Given the description of an element on the screen output the (x, y) to click on. 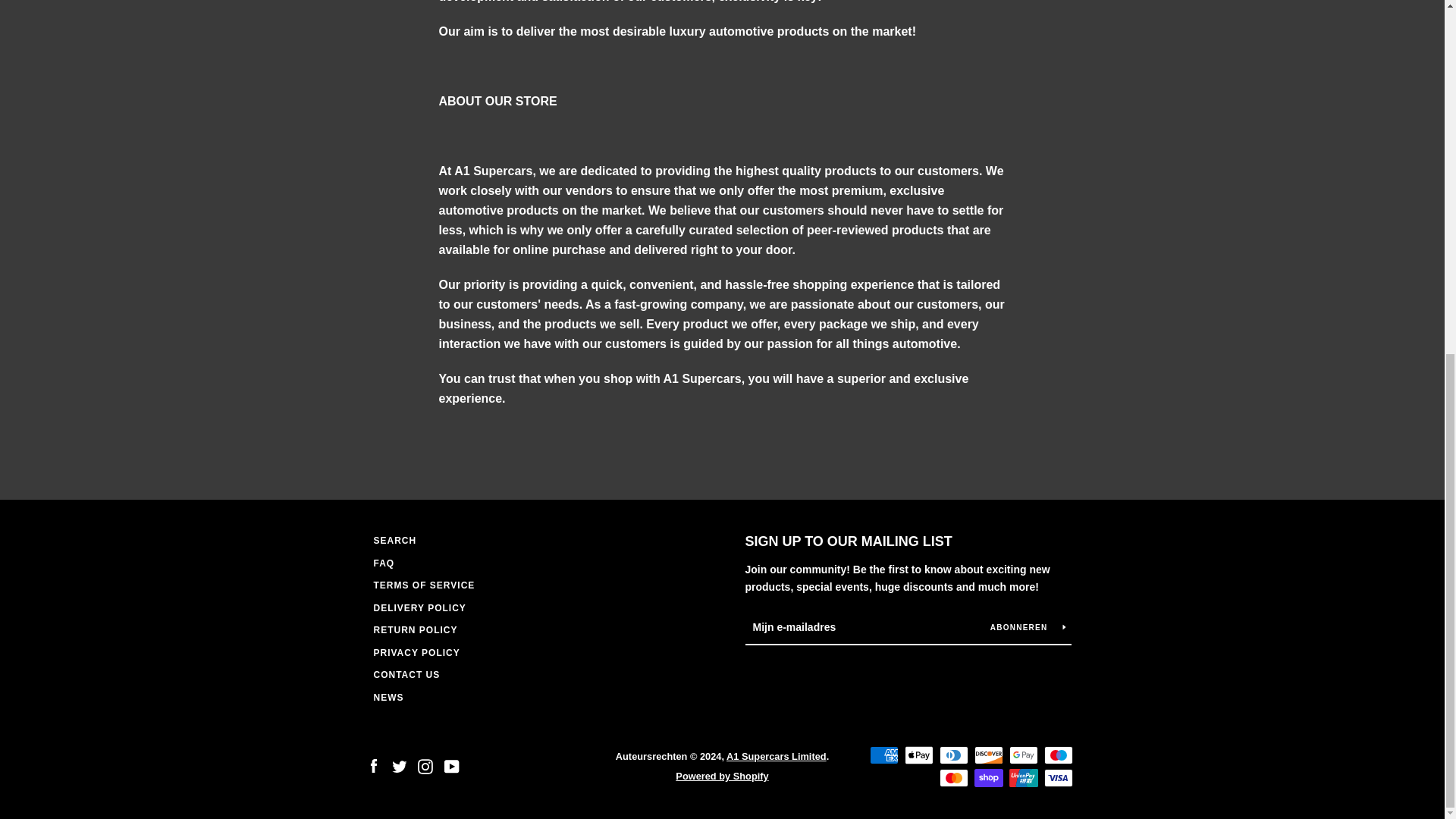
Shop Pay (988, 158)
A1 Supercars Limited op Instagram (424, 145)
Mastercard (953, 158)
A1 Supercars Limited op Twitter (399, 145)
Maestro (1057, 135)
Discover (988, 135)
A1 Supercars Limited op YouTube (452, 145)
A1 Supercars Limited op Facebook (372, 145)
Apple Pay (918, 135)
Visa (1057, 158)
Google Pay (1022, 135)
Union Pay (1022, 158)
American Express (883, 135)
Diners Club (953, 135)
